Given the description of an element on the screen output the (x, y) to click on. 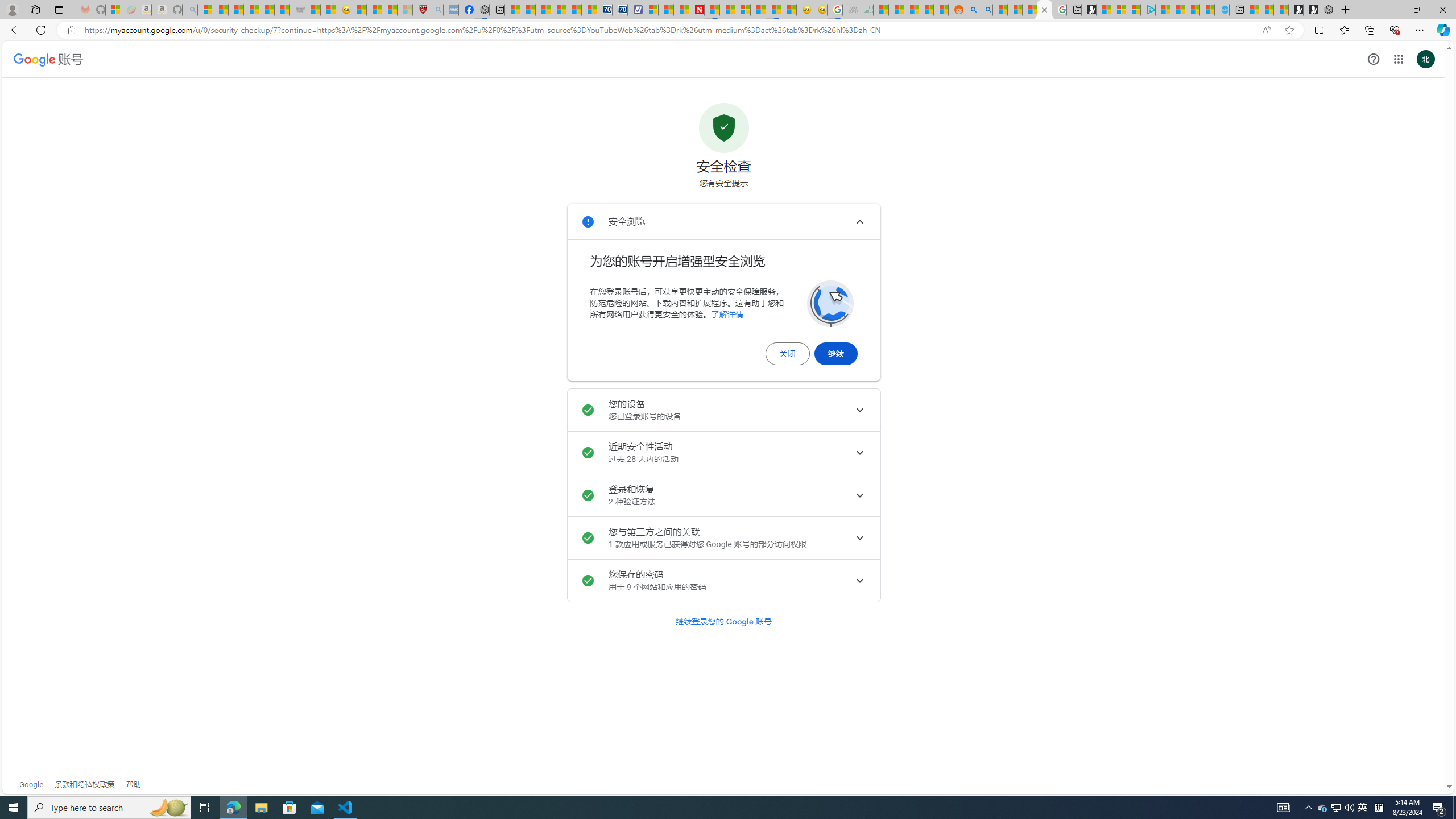
Student Loan Update: Forgiveness Program Ends This Month (926, 9)
